Given the description of an element on the screen output the (x, y) to click on. 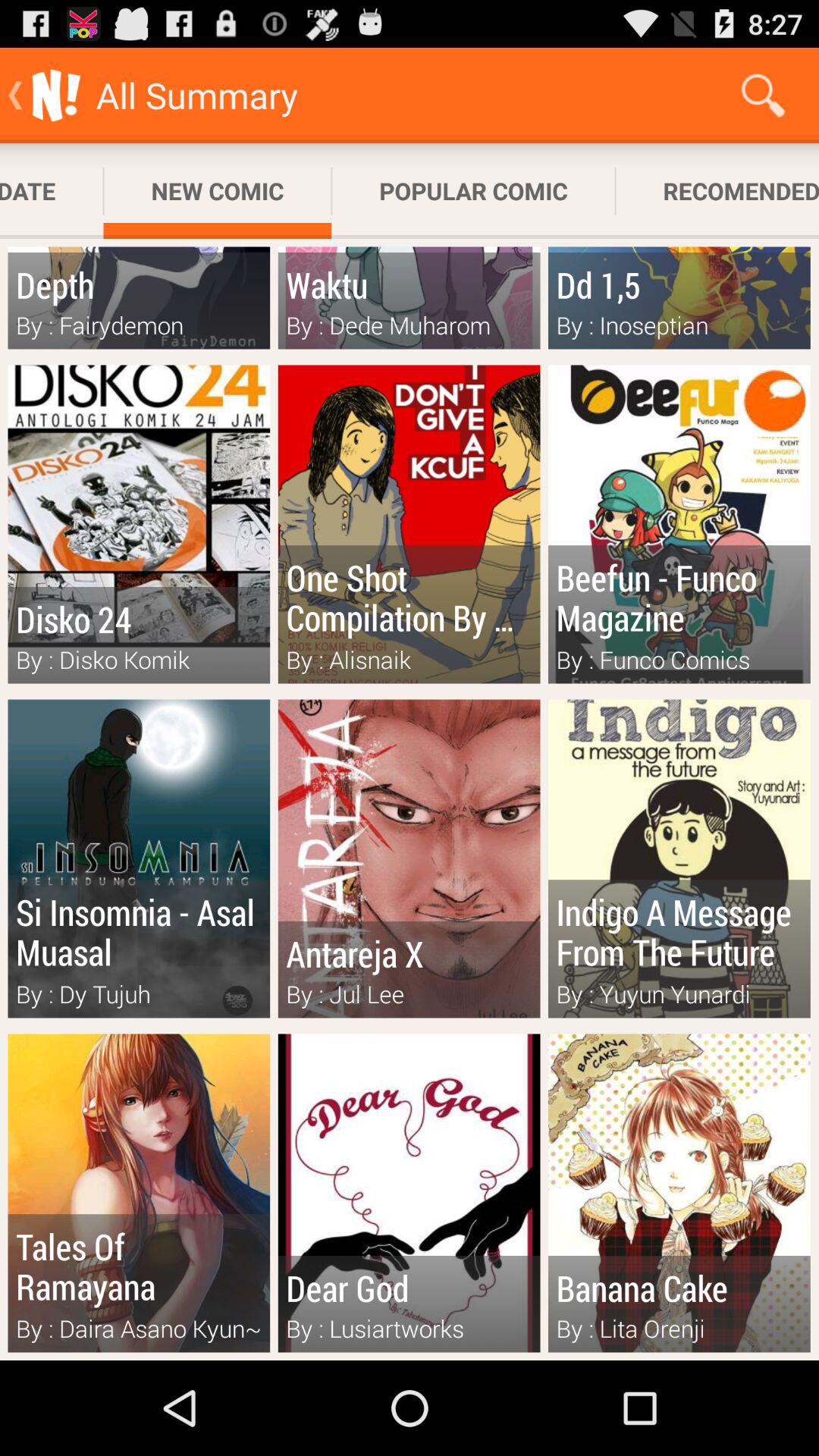
choose app next to popular comic app (763, 95)
